Given the description of an element on the screen output the (x, y) to click on. 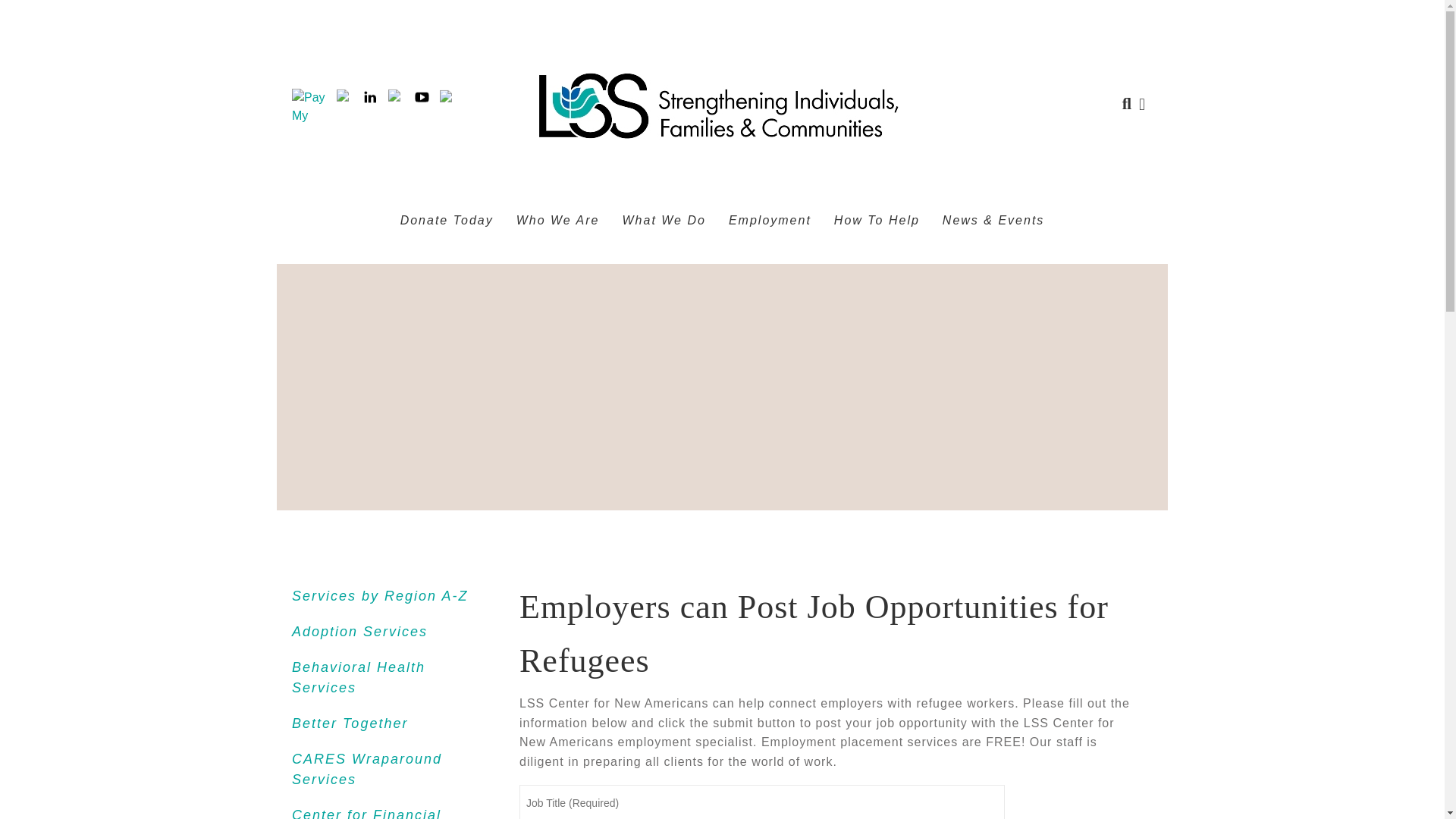
logo (718, 105)
